Given the description of an element on the screen output the (x, y) to click on. 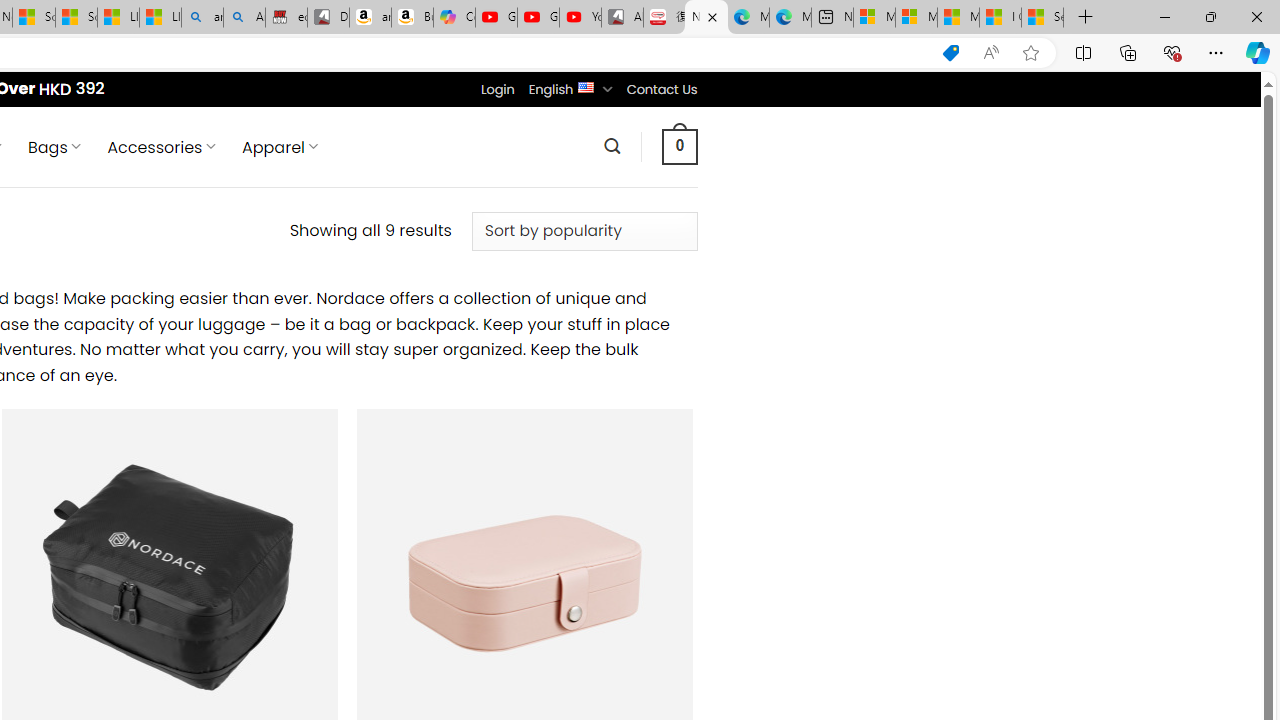
Split screen (1083, 52)
Login (497, 89)
Shop order (584, 231)
 0  (679, 146)
Nordace - Organizers (706, 17)
English (586, 86)
New tab (831, 17)
amazon.in/dp/B0CX59H5W7/?tag=gsmcom05-21 (369, 17)
All Cubot phones (621, 17)
Microsoft account | Privacy (916, 17)
Copilot (453, 17)
